Given the description of an element on the screen output the (x, y) to click on. 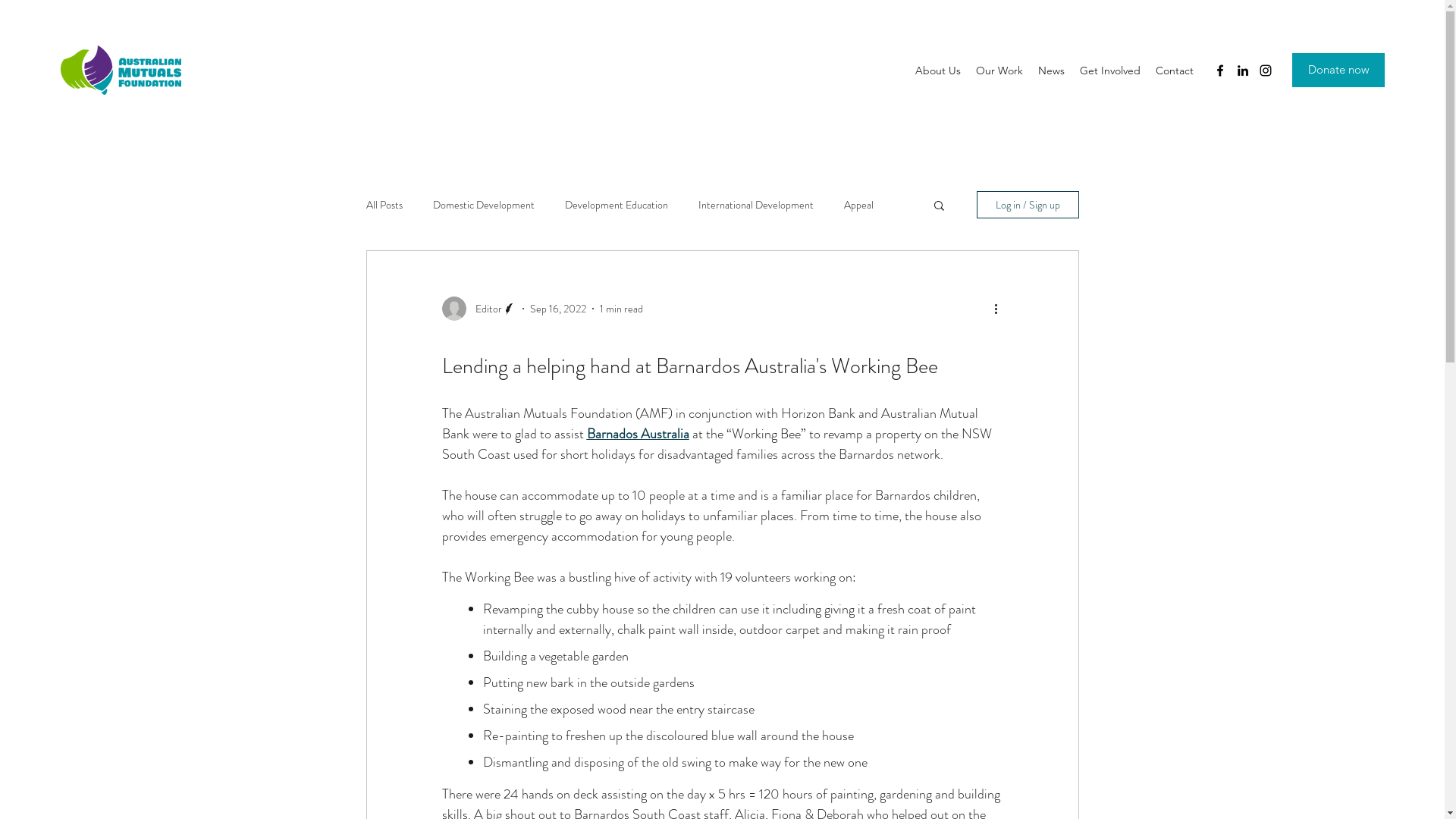
About Us Element type: text (937, 70)
Appeal Element type: text (857, 204)
Log in / Sign up Element type: text (1027, 204)
All Posts Element type: text (383, 204)
Contact Element type: text (1174, 70)
International Development Element type: text (754, 204)
Donate now Element type: text (1338, 70)
Domestic Development Element type: text (482, 204)
Development Education Element type: text (615, 204)
News Element type: text (1051, 70)
Barnados Australia Element type: text (637, 433)
Get Involved Element type: text (1110, 70)
Our Work Element type: text (999, 70)
